Given the description of an element on the screen output the (x, y) to click on. 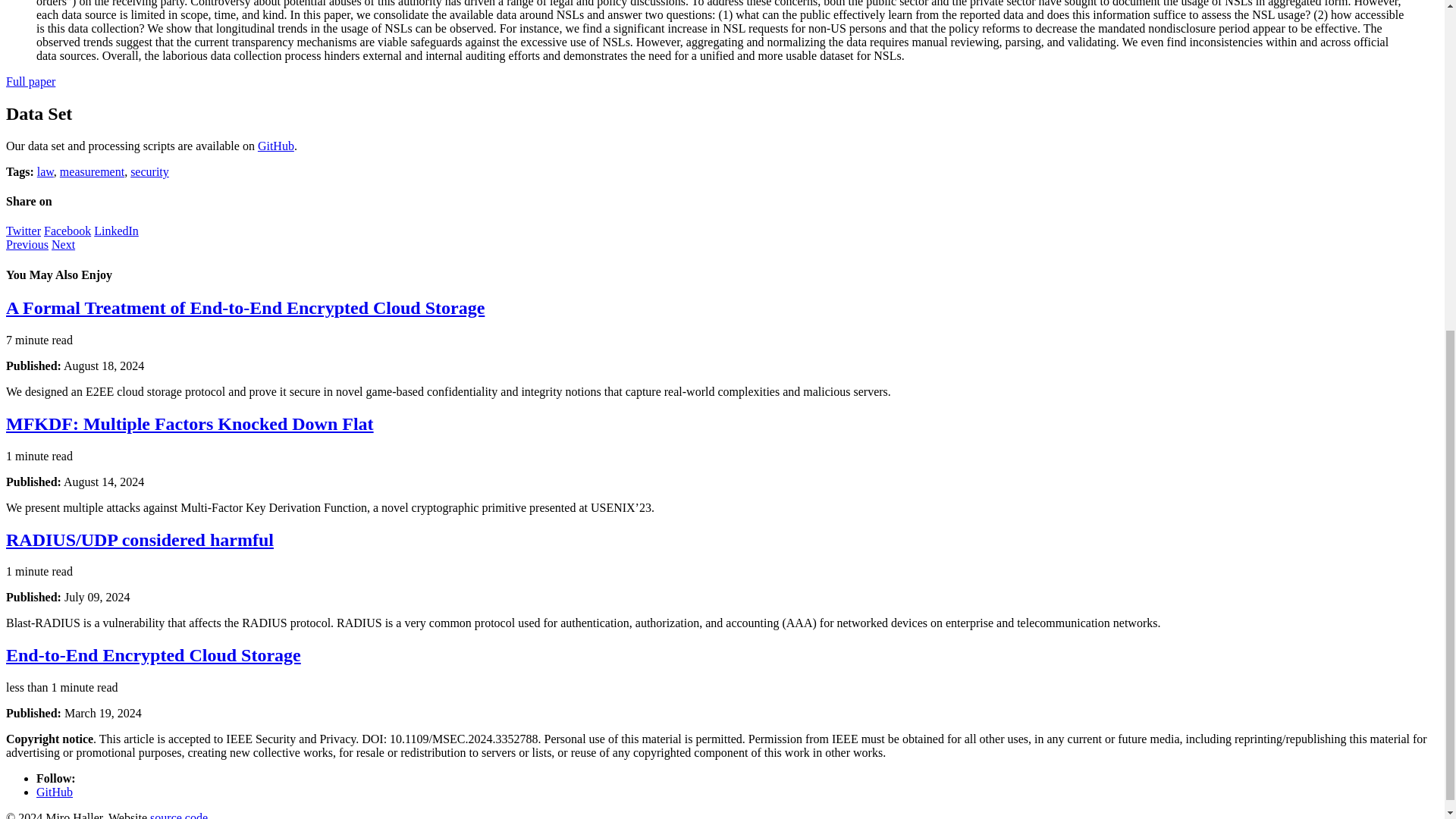
measurement (91, 171)
Share on LinkedIn (116, 230)
Share on Facebook (66, 230)
Share on Twitter (22, 230)
End-to-End Encrypted Cloud Storage (153, 655)
Previous (26, 244)
security (149, 171)
Next (62, 244)
LinkedIn (116, 230)
MFKDF: Multiple Factors Knocked Down Flat (189, 424)
